Given the description of an element on the screen output the (x, y) to click on. 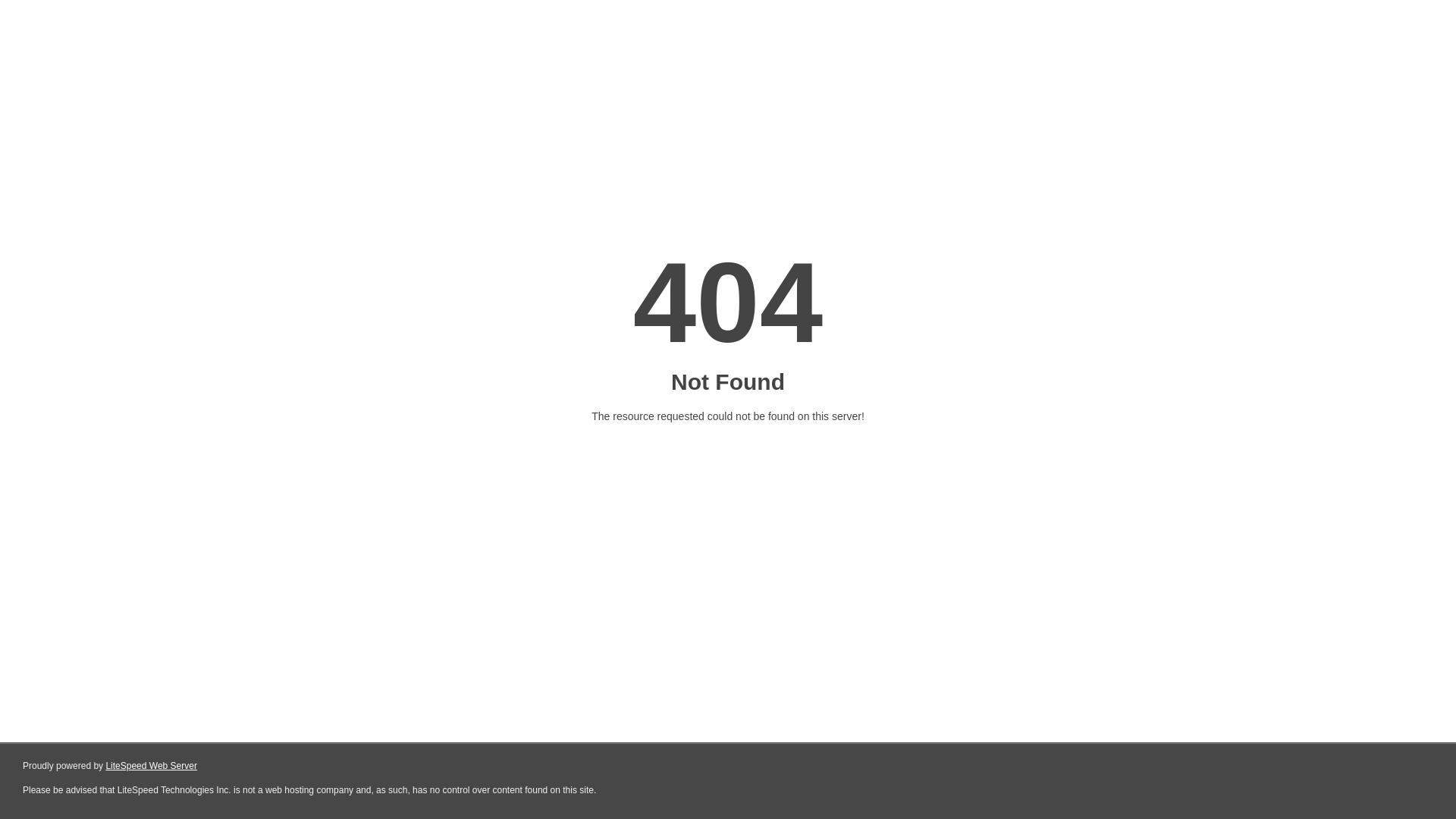
LiteSpeed Web Server Element type: text (151, 765)
